Given the description of an element on the screen output the (x, y) to click on. 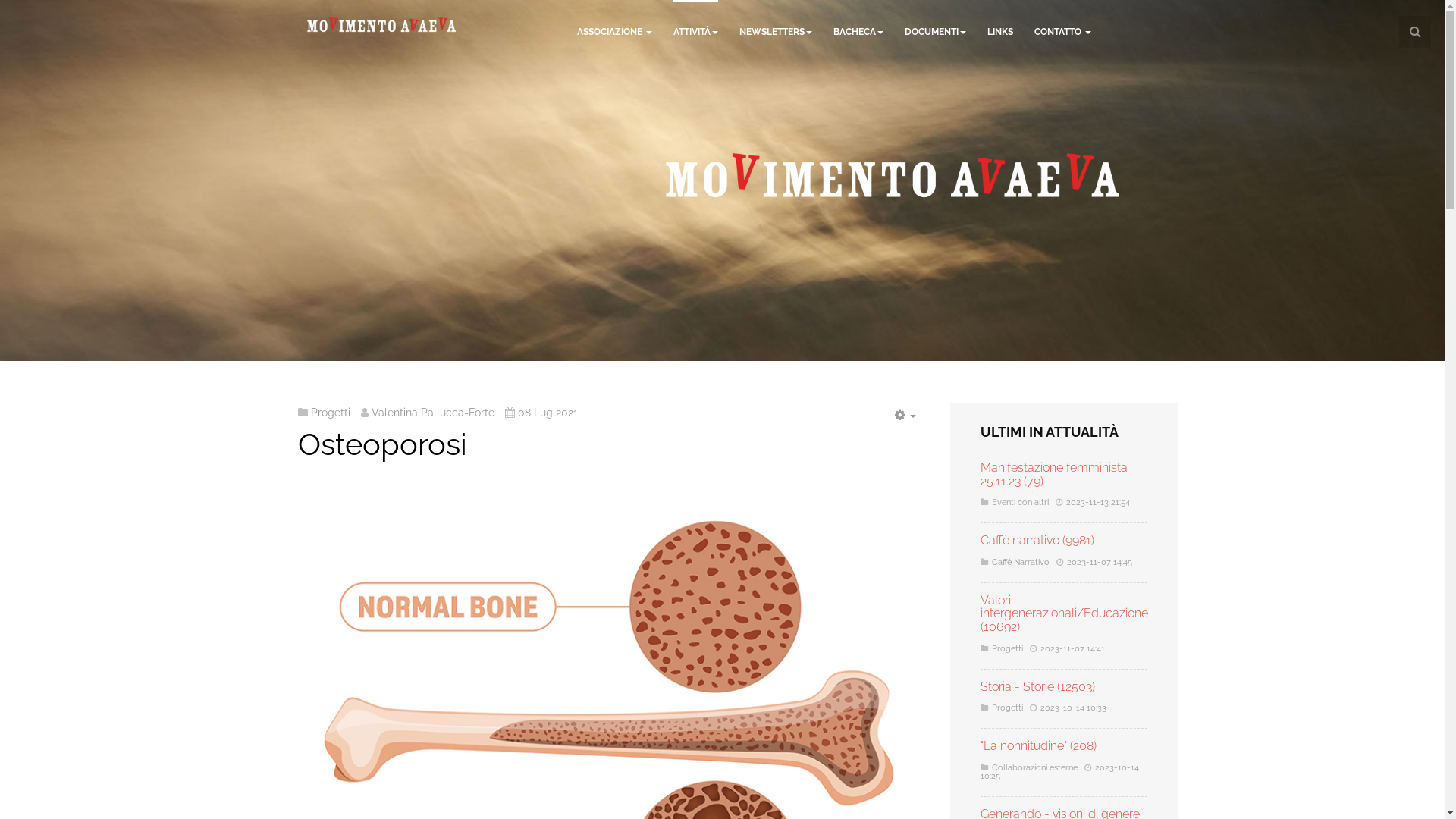
Progetti Element type: text (1006, 648)
Storia - Storie (12503) Element type: text (1036, 686)
Osteoporosi Element type: text (381, 443)
Valori intergenerazionali/Educazione (10692) Element type: text (1063, 613)
BACHECA Element type: text (857, 31)
CONTATTO Element type: text (1062, 31)
Collaborazioni esterne Element type: text (1034, 767)
NEWSLETTERS Element type: text (774, 31)
LINKS Element type: text (1000, 31)
Associazione Movimento AvaEva Element type: hover (380, 24)
DOCUMENTI Element type: text (934, 31)
Progetti Element type: text (1006, 707)
Progetti Element type: text (330, 412)
"La nonnitudine" (208) Element type: text (1037, 745)
Manifestazione femminista 25.11.23 (79) Element type: text (1052, 474)
ASSOCIAZIONE Element type: text (613, 31)
Eventi con altri Element type: text (1019, 502)
